Given the description of an element on the screen output the (x, y) to click on. 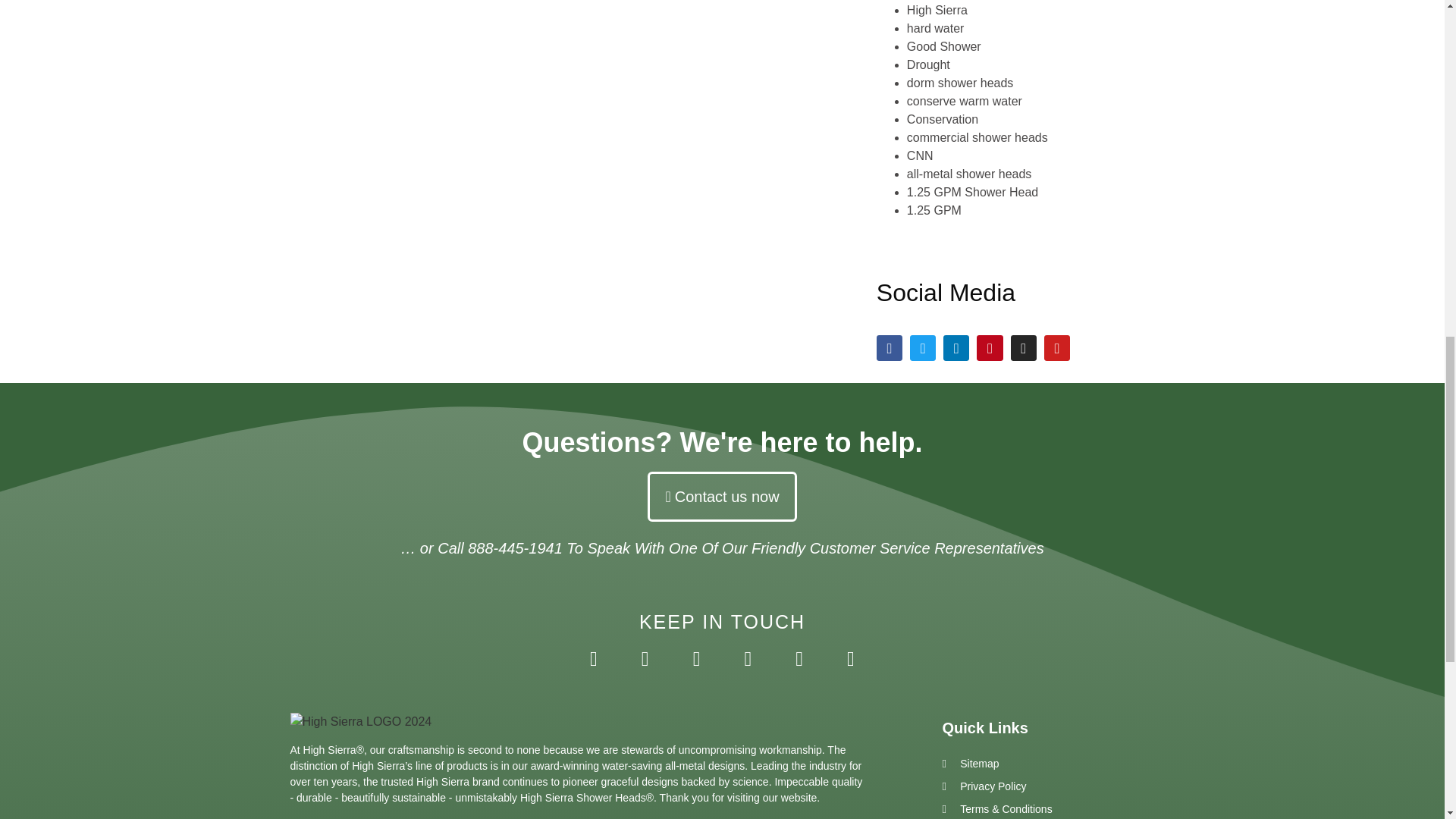
High Sierra LOGO 2024 (359, 721)
